Given the description of an element on the screen output the (x, y) to click on. 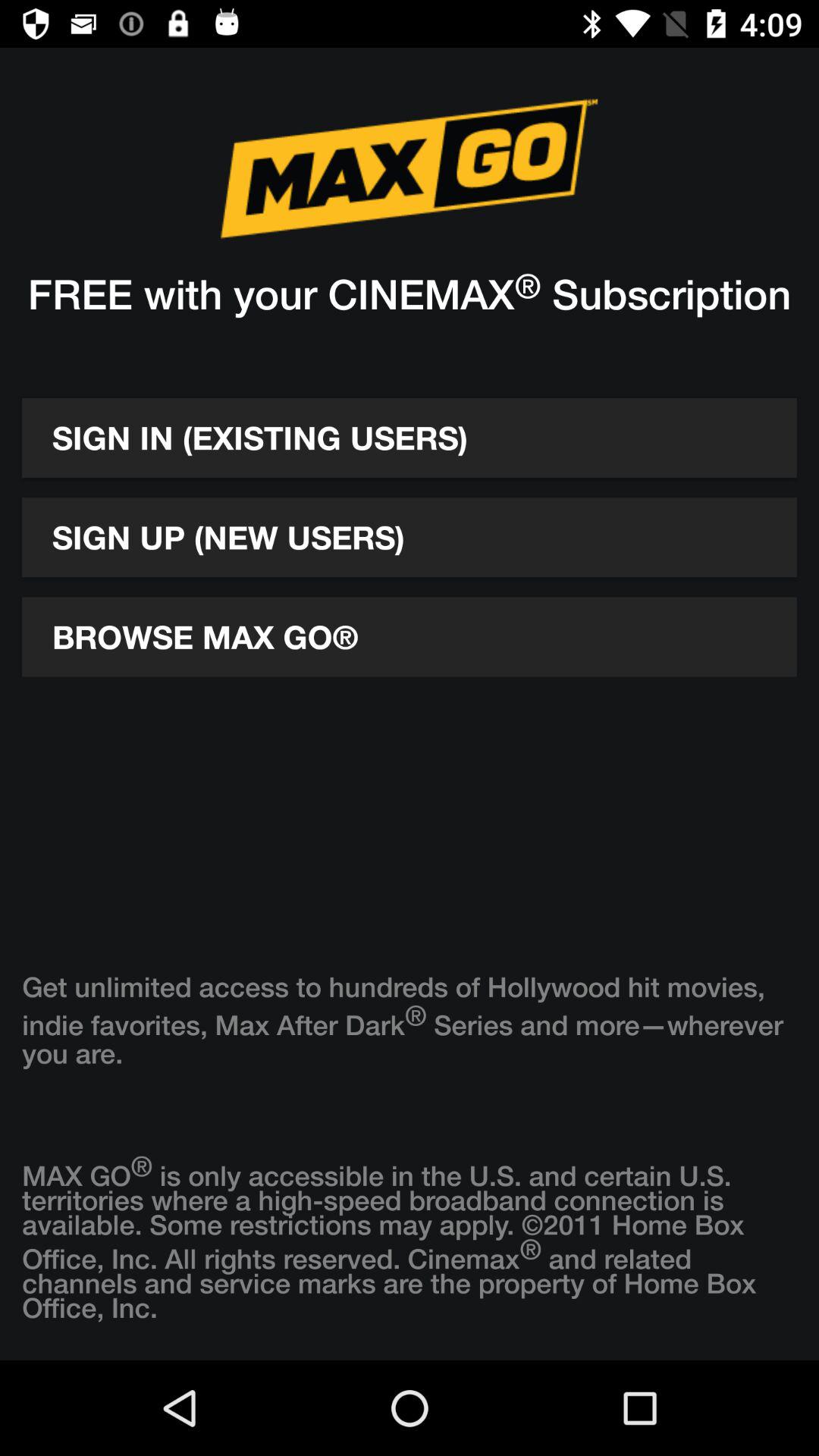
turn on icon above sign up new icon (409, 437)
